Given the description of an element on the screen output the (x, y) to click on. 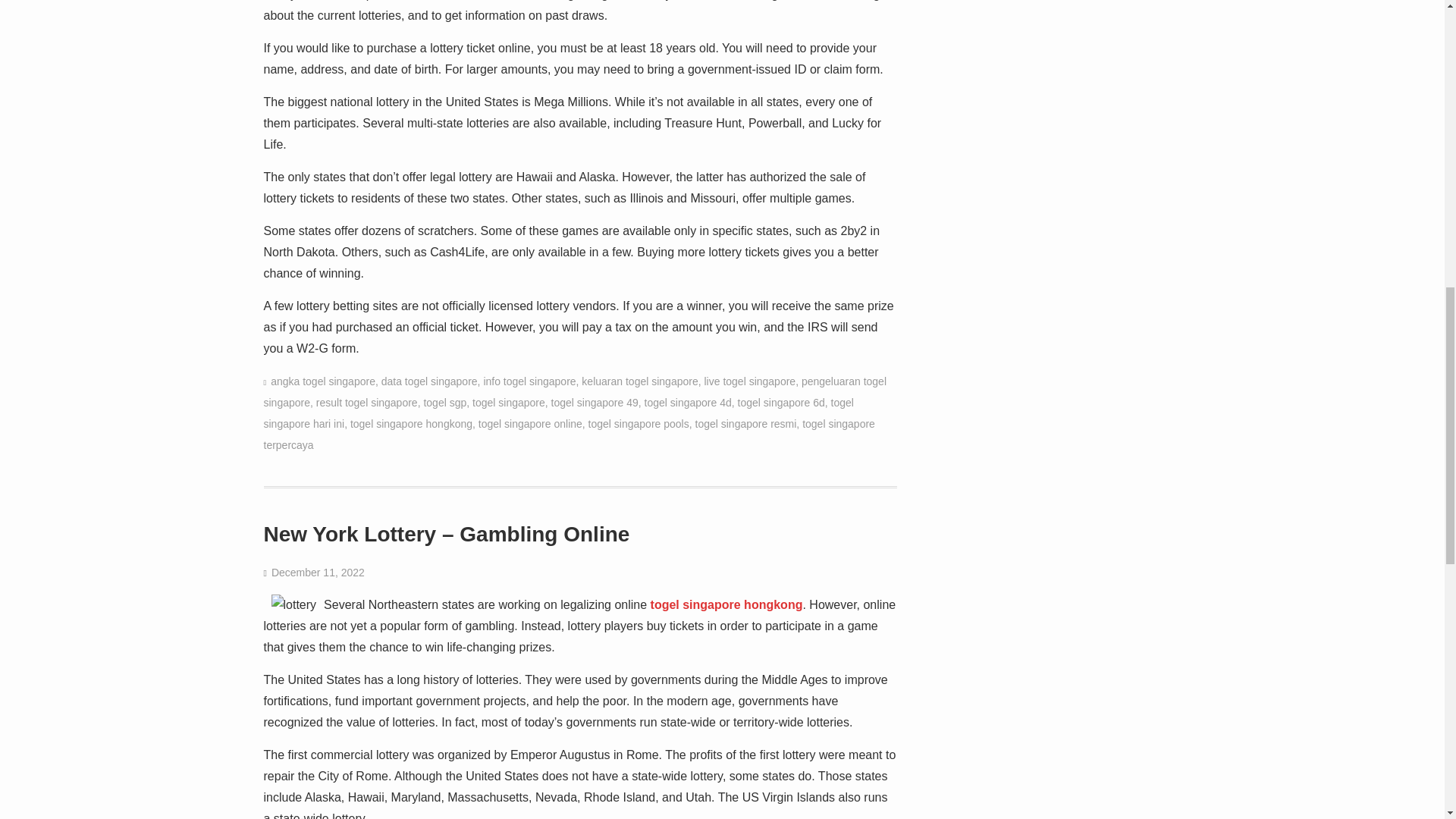
togel singapore pools (638, 423)
togel singapore hongkong (726, 604)
info togel singapore (529, 381)
live togel singapore (748, 381)
togel singapore resmi (745, 423)
December 11, 2022 (317, 572)
togel singapore terpercaya (569, 434)
data togel singapore (429, 381)
pengeluaran togel singapore (574, 391)
togel sgp (444, 402)
